Given the description of an element on the screen output the (x, y) to click on. 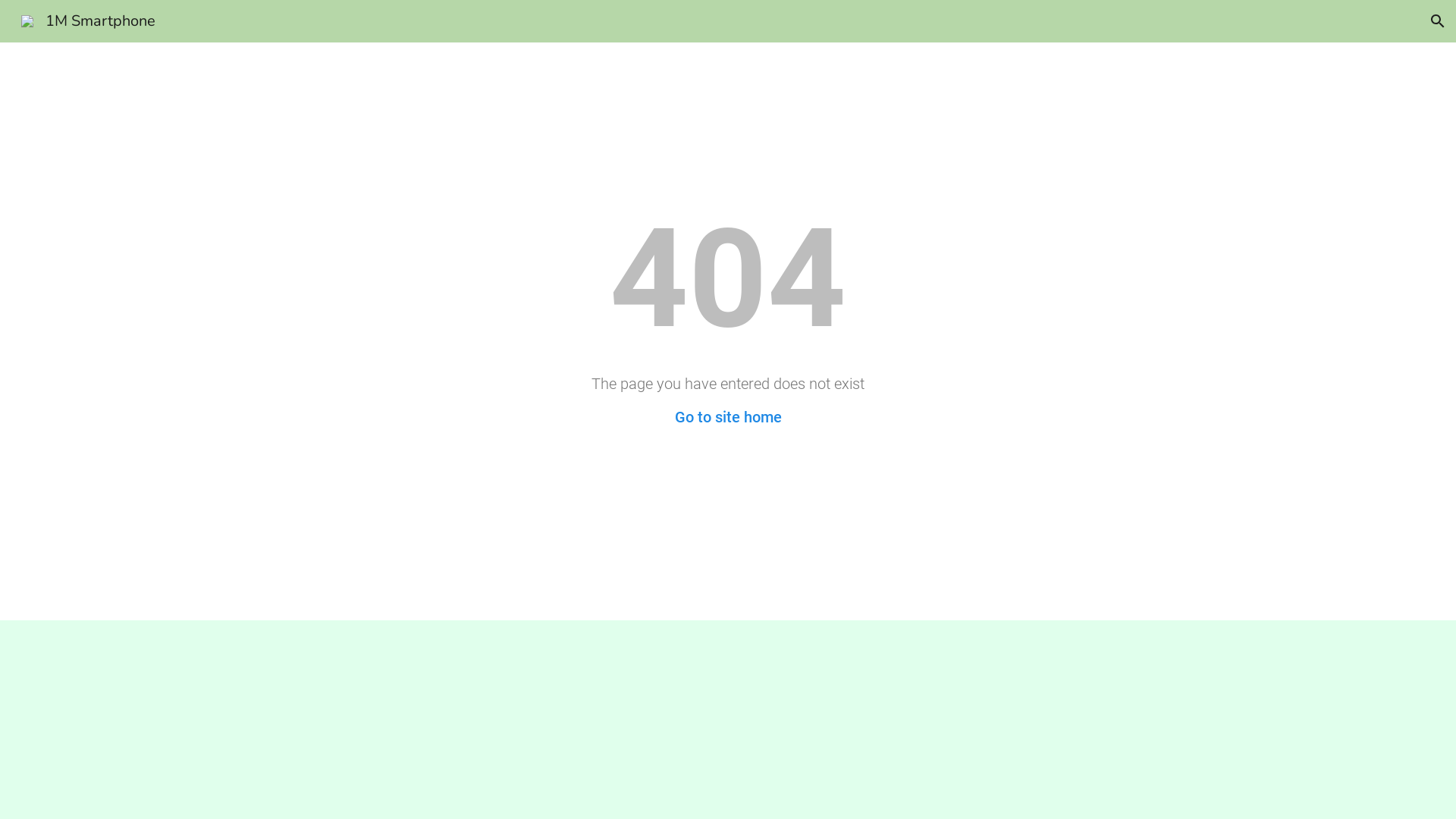
1M Smartphone Element type: text (88, 19)
Go to site home Element type: text (727, 416)
